Given the description of an element on the screen output the (x, y) to click on. 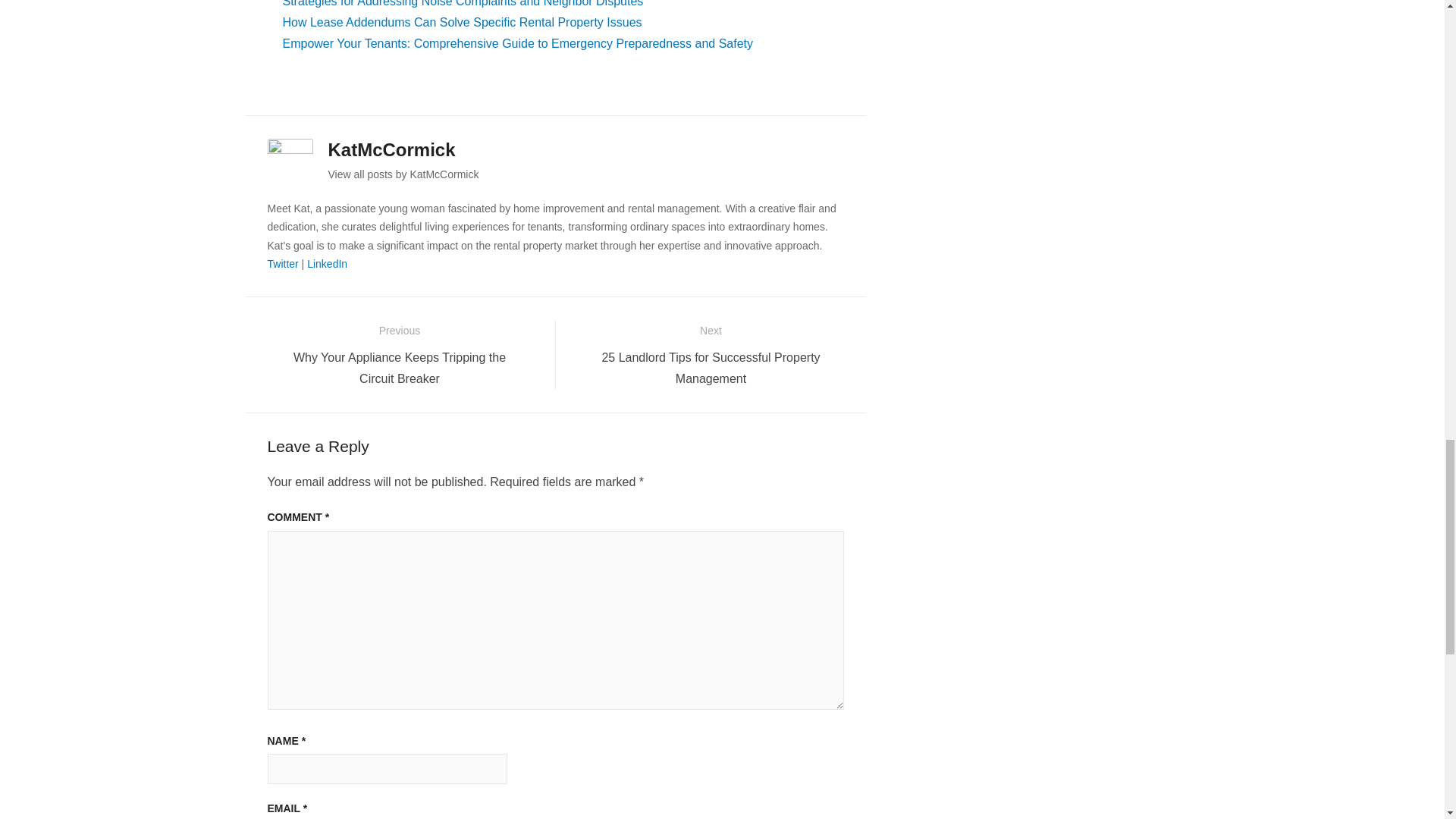
LinkedIn (327, 263)
Twitter (282, 263)
View all posts by KatMcCormick (403, 174)
